Given the description of an element on the screen output the (x, y) to click on. 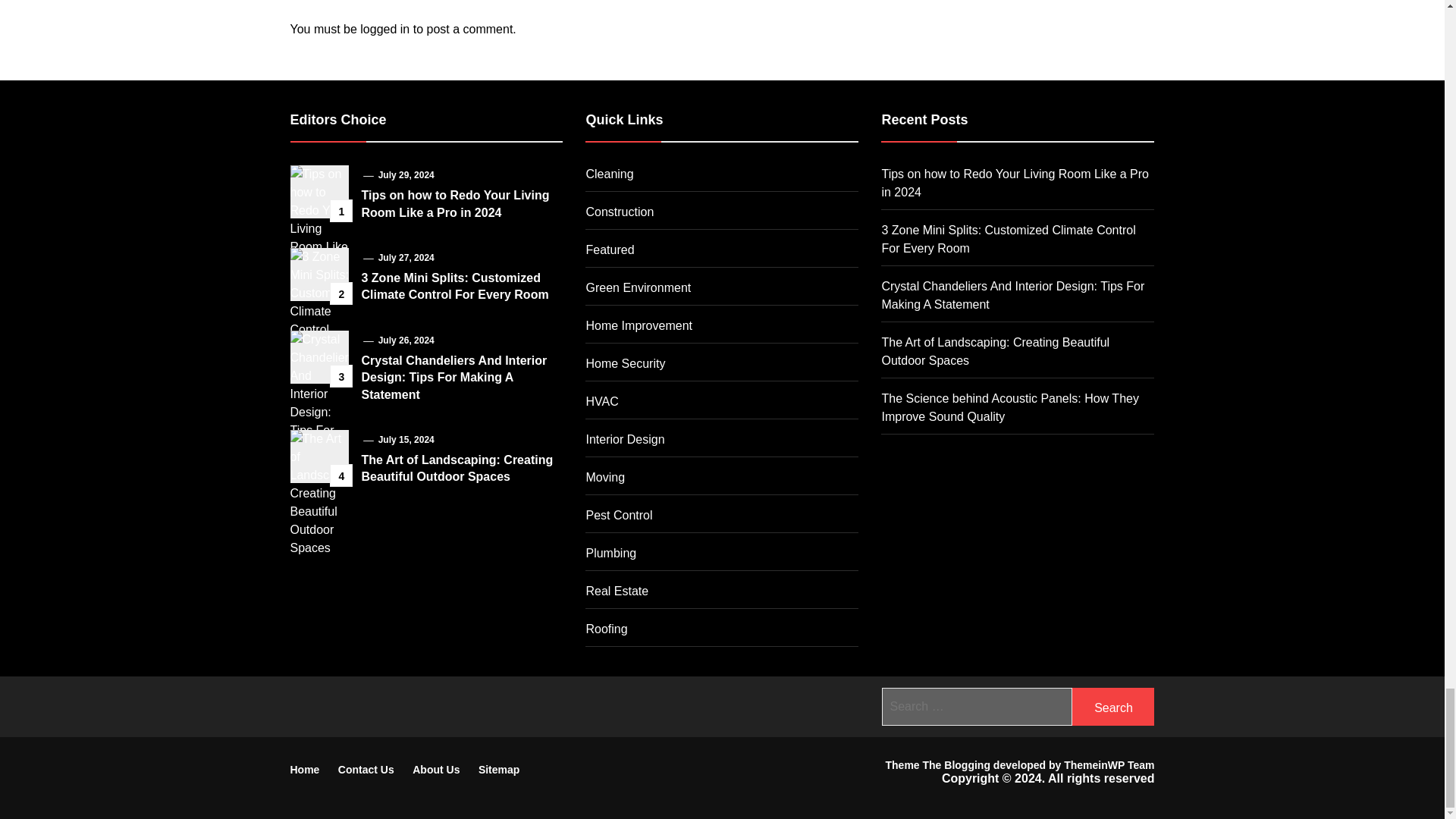
Search (1112, 706)
Search (1112, 706)
